Given the description of an element on the screen output the (x, y) to click on. 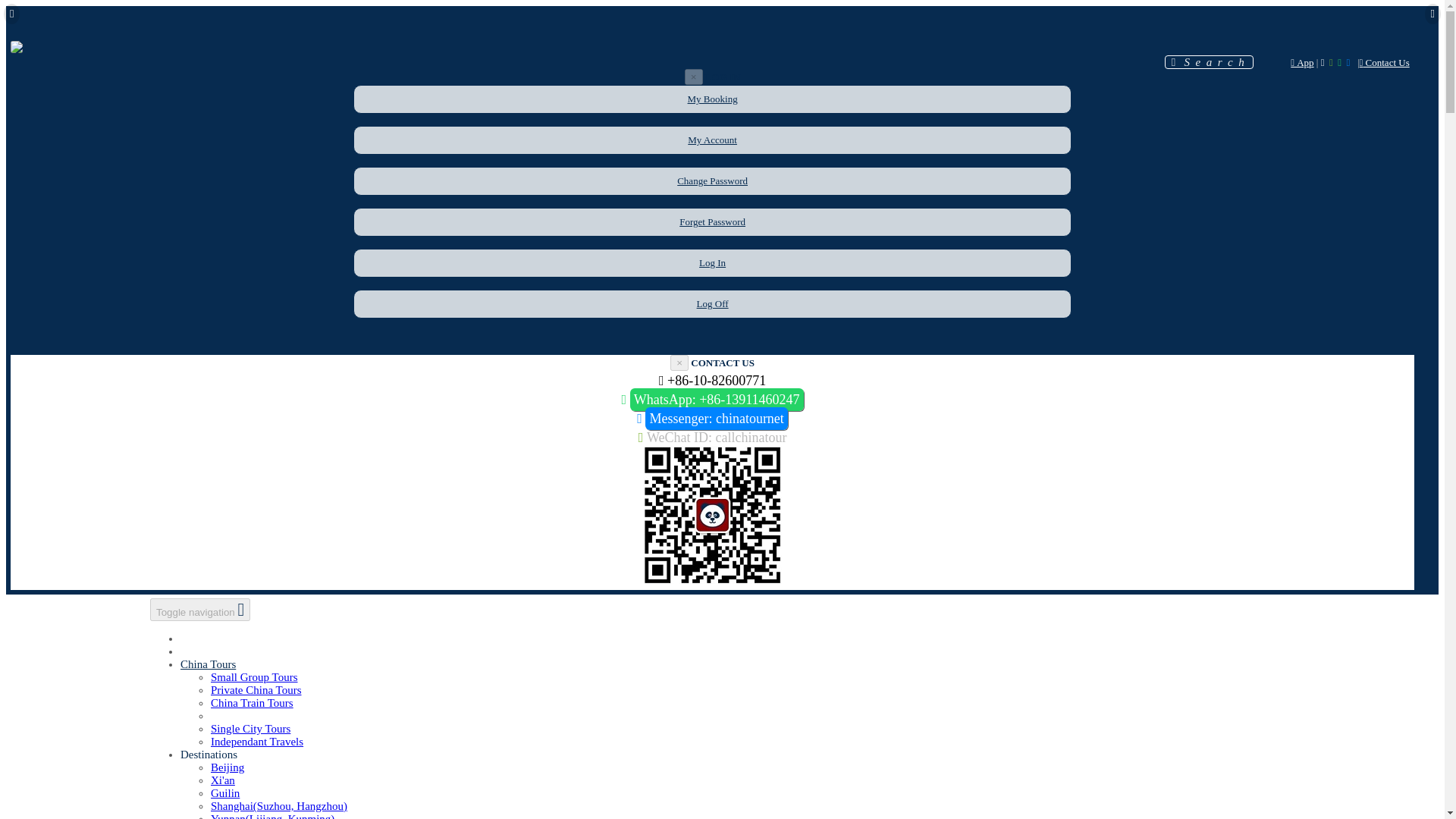
 App (1301, 61)
China Tours (207, 664)
Xi'an (222, 779)
Independant Travels (256, 741)
Destinations (208, 754)
My Booking (712, 98)
Beijing (227, 767)
Messenger: chinatournet (716, 418)
Toggle navigation (199, 609)
China Train Tours (252, 702)
Log In (711, 262)
Guilin (225, 793)
Forget Password (712, 221)
Private China Tours (256, 689)
